Given the description of an element on the screen output the (x, y) to click on. 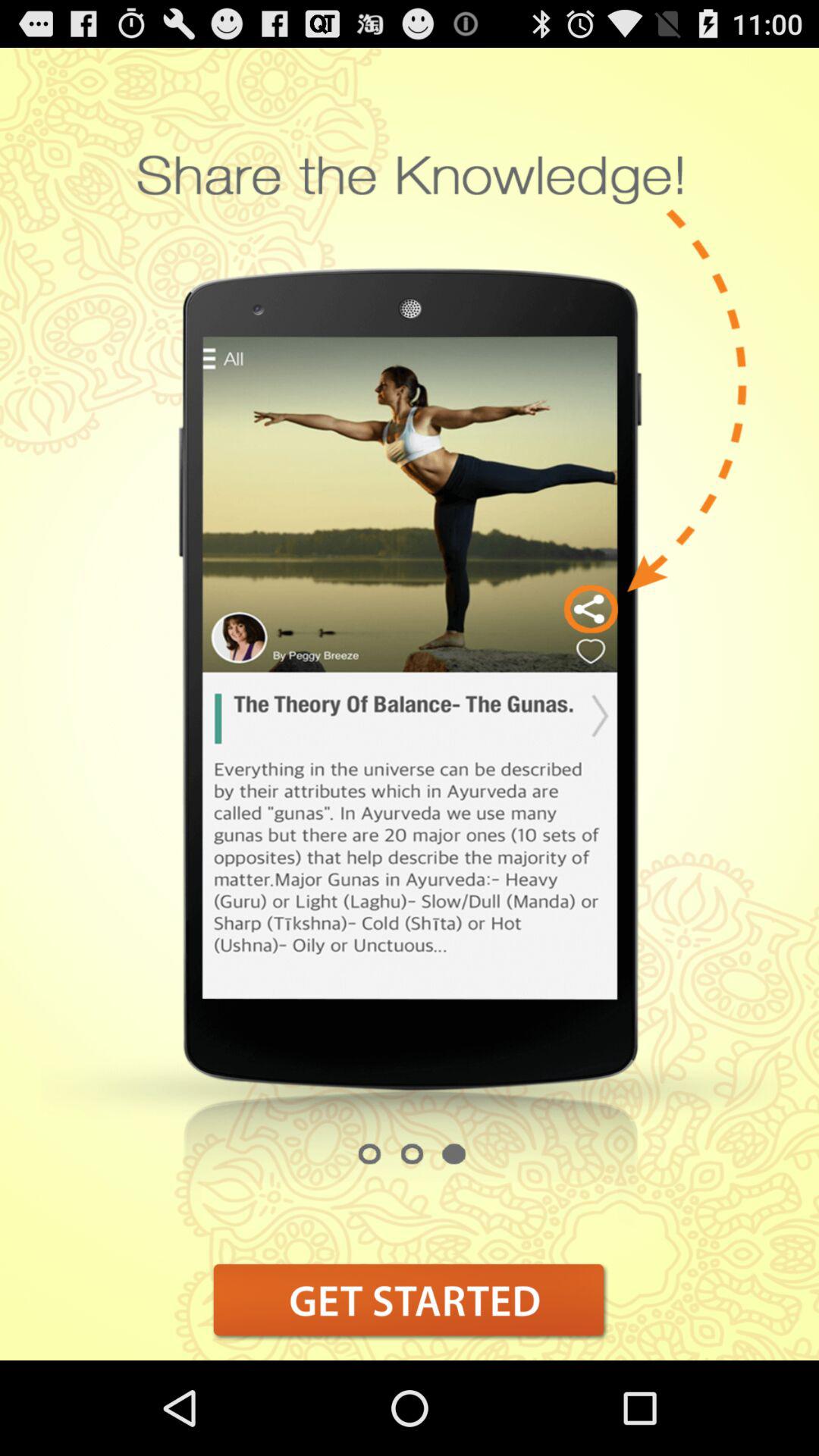
get started (409, 1300)
